Given the description of an element on the screen output the (x, y) to click on. 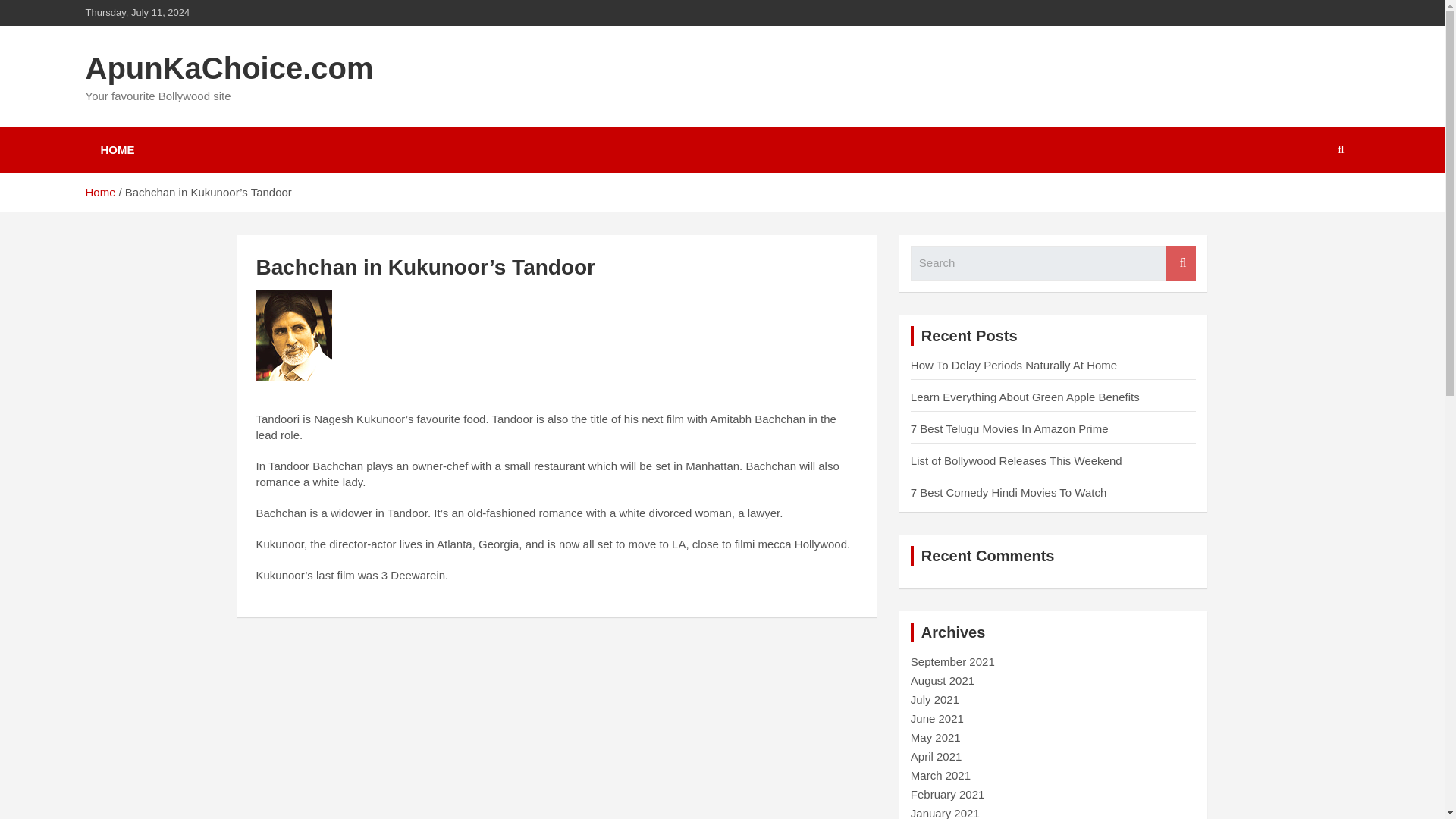
April 2021 (936, 756)
June 2021 (937, 717)
Learn Everything About Green Apple Benefits (1025, 396)
January 2021 (945, 812)
Home (99, 192)
List of Bollywood Releases This Weekend (1016, 460)
Search (1180, 263)
September 2021 (952, 661)
How To Delay Periods Naturally At Home (1013, 364)
February 2021 (948, 793)
ApunKaChoice.com (228, 68)
July 2021 (935, 698)
May 2021 (935, 737)
7 Best Comedy Hindi Movies To Watch (1008, 492)
7 Best Telugu Movies In Amazon Prime (1009, 428)
